Given the description of an element on the screen output the (x, y) to click on. 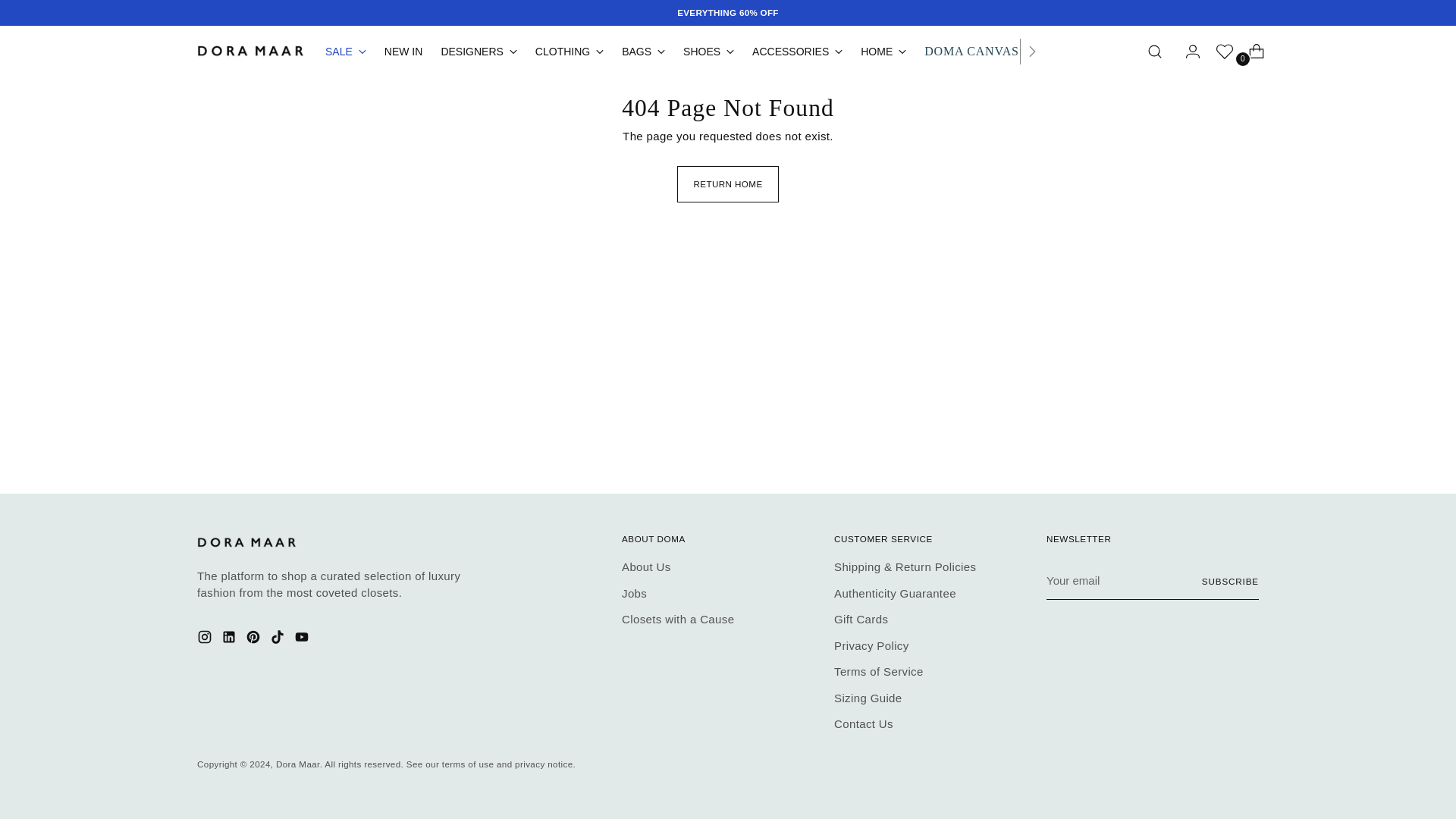
Dora Maar on YouTube (303, 639)
Dora Maar on Tiktok (278, 639)
NEW IN (403, 51)
Dora Maar on LinkedIn (230, 639)
SALE (345, 51)
Dora Maar on Instagram (205, 639)
Next (1031, 50)
DESIGNERS (478, 51)
Dora Maar on Pinterest (254, 639)
